Given the description of an element on the screen output the (x, y) to click on. 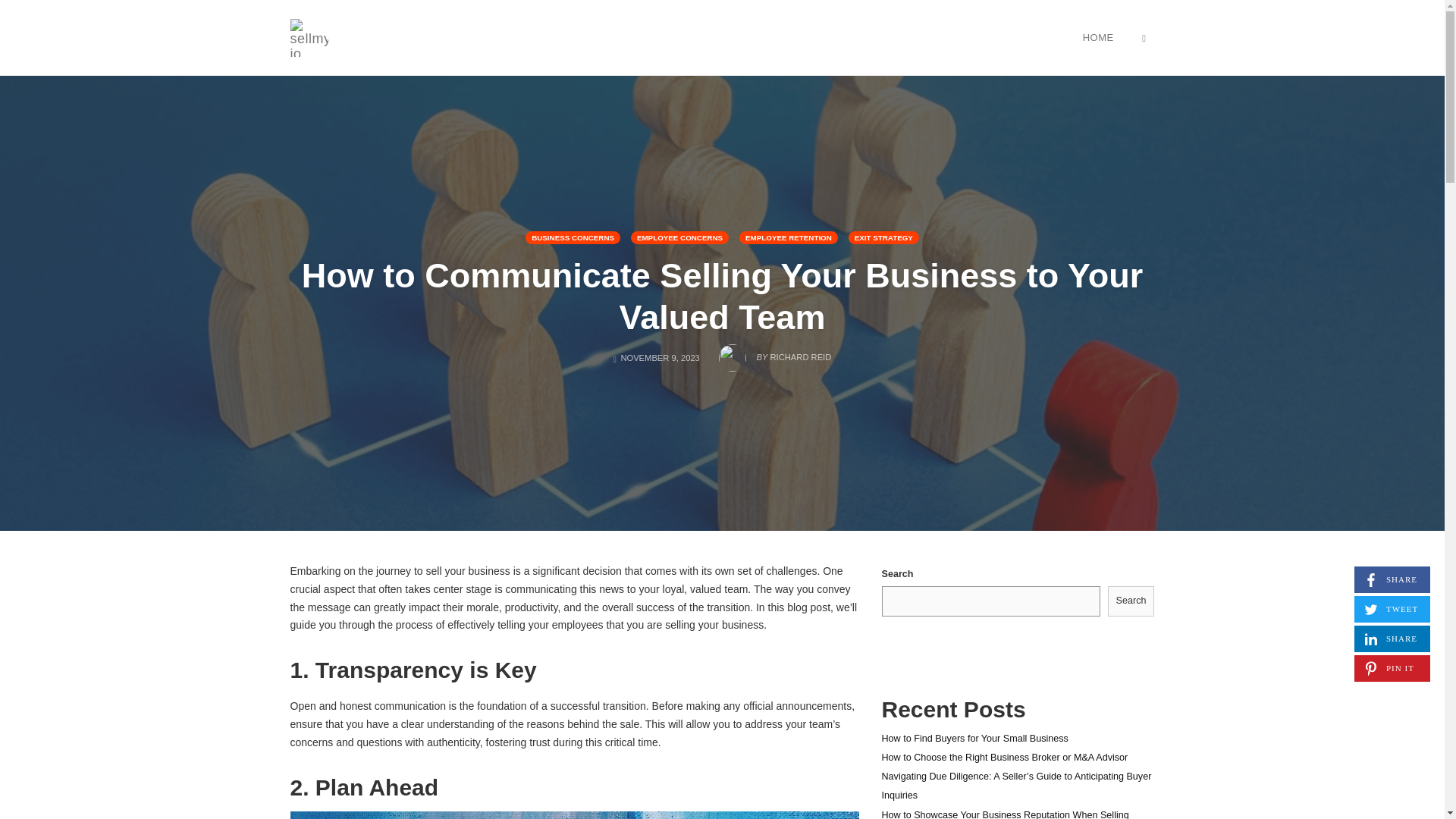
EXIT STRATEGY (883, 237)
EMPLOYEE RETENTION (788, 237)
HOME (1098, 37)
sellmybusiness-io (308, 37)
BUSINESS CONCERNS (572, 237)
OPEN SEARCH FORM (1144, 37)
Processed with VSCO with f1 preset - sellmybusiness-io (1391, 579)
Skip to content (574, 815)
How to Communicate Selling Your Business to Your Valued Team (1004, 814)
Search (721, 296)
EMPLOYEE CONCERNS (1131, 600)
BY RICHARD REID (679, 237)
